Given the description of an element on the screen output the (x, y) to click on. 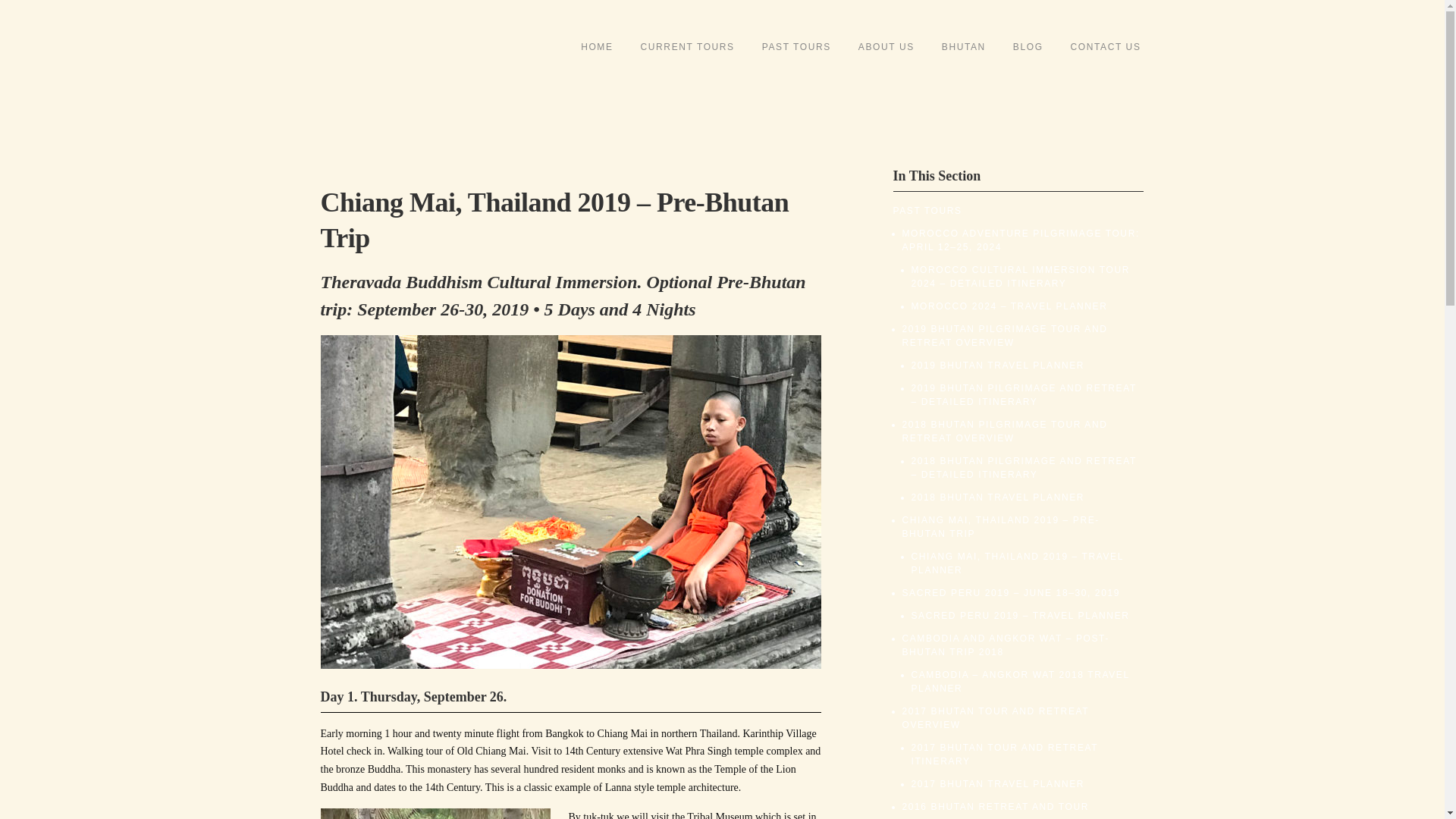
2019 BHUTAN PILGRIMAGE TOUR AND RETREAT OVERVIEW (1005, 335)
HOME (596, 46)
PAST TOURS (927, 210)
PAST TOURS (796, 46)
2019 BHUTAN TRAVEL PLANNER (997, 365)
BHUTAN (963, 46)
CURRENT TOURS (687, 46)
CONTACT US (1105, 46)
BLOG (1027, 46)
2018 BHUTAN TRAVEL PLANNER (997, 497)
2018 BHUTAN PILGRIMAGE TOUR AND RETREAT OVERVIEW (1005, 431)
ABOUT US (886, 46)
Two Truths (425, 62)
